Given the description of an element on the screen output the (x, y) to click on. 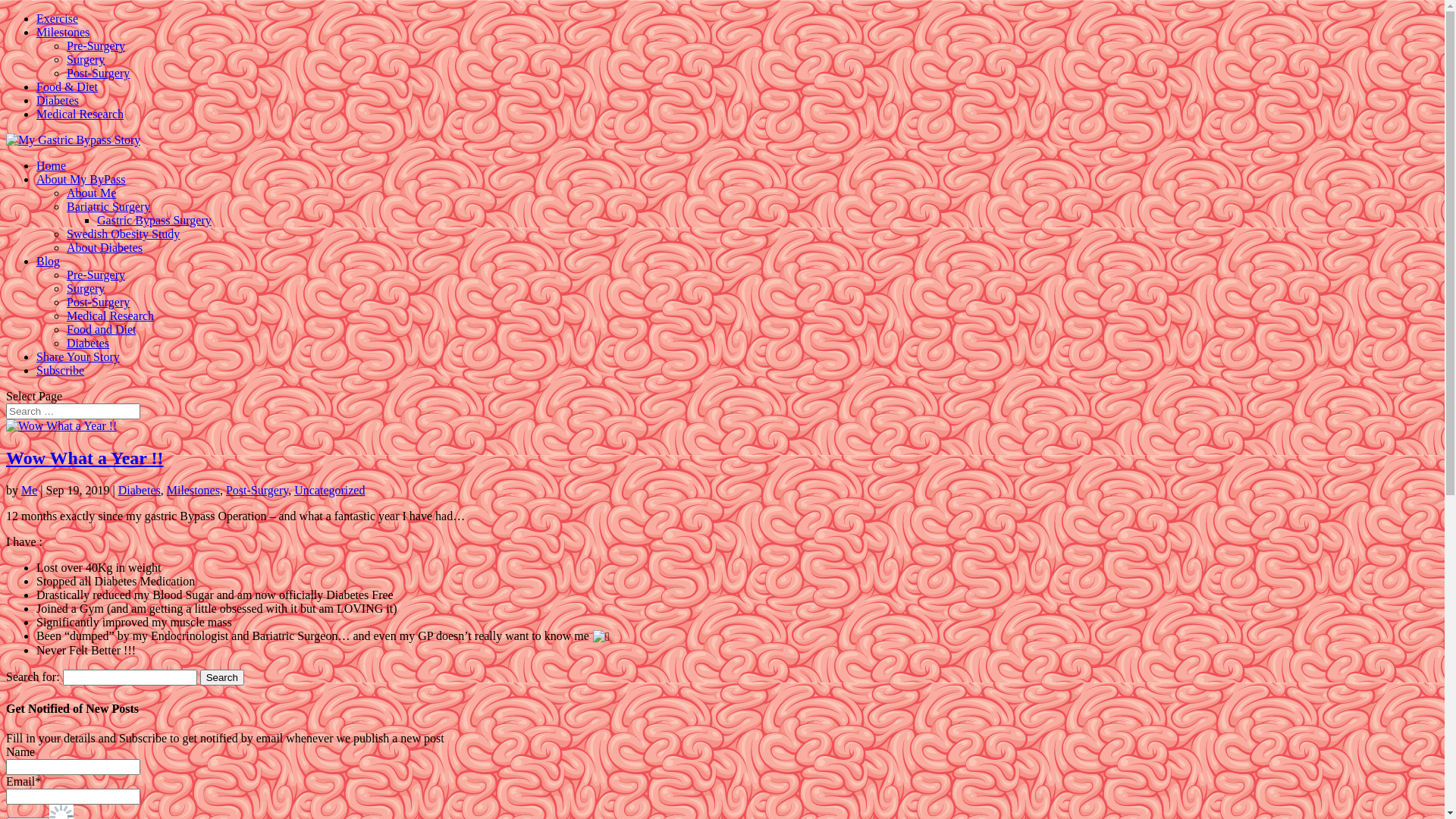
Exercise Element type: text (57, 18)
Subscribe Element type: text (60, 370)
Search Element type: text (222, 677)
Diabetes Element type: text (57, 100)
Blog Element type: text (47, 260)
Diabetes Element type: text (139, 489)
Swedish Obesity Study Element type: text (122, 233)
Pre-Surgery Element type: text (95, 274)
Home Element type: text (50, 165)
Gastric Bypass Surgery Element type: text (154, 219)
Me Element type: text (29, 489)
Wow What a Year !! Element type: text (84, 457)
Food & Diet Element type: text (66, 86)
Medical Research Element type: text (109, 315)
Post-Surgery Element type: text (97, 301)
Search for: Element type: hover (73, 411)
Food and Diet Element type: text (101, 329)
Bariatric Surgery Element type: text (108, 206)
Diabetes Element type: text (87, 342)
Post-Surgery Element type: text (256, 489)
Share Your Story Element type: text (77, 356)
Surgery Element type: text (85, 59)
Post-Surgery Element type: text (97, 72)
Medical Research Element type: text (79, 113)
About Me Element type: text (91, 192)
About My ByPass Element type: text (80, 178)
About Diabetes Element type: text (104, 247)
Uncategorized Element type: text (329, 489)
Surgery Element type: text (85, 288)
Milestones Element type: text (192, 489)
Milestones Element type: text (62, 31)
Pre-Surgery Element type: text (95, 45)
